Given the description of an element on the screen output the (x, y) to click on. 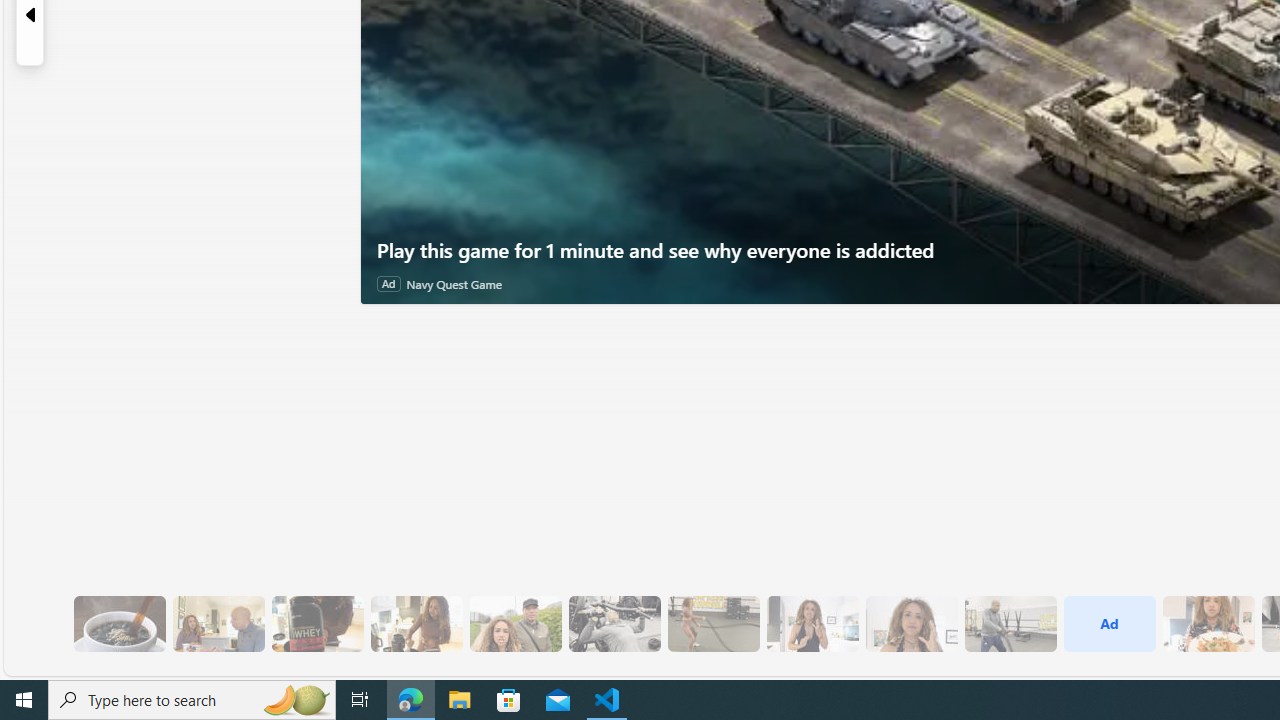
11 They Eat More Protein for Breakfast (811, 624)
7 They Don't Skip Meals (416, 624)
13 Her Husband Does Group Cardio Classs (1010, 624)
8 Be Mindful of Coffee (119, 624)
9 They Do Bench Exercises (614, 624)
14 They Have Salmon and Veggies for Dinner (1208, 624)
5 She Eats Less Than Her Husband (217, 624)
8 They Walk to the Gym (514, 624)
